Given the description of an element on the screen output the (x, y) to click on. 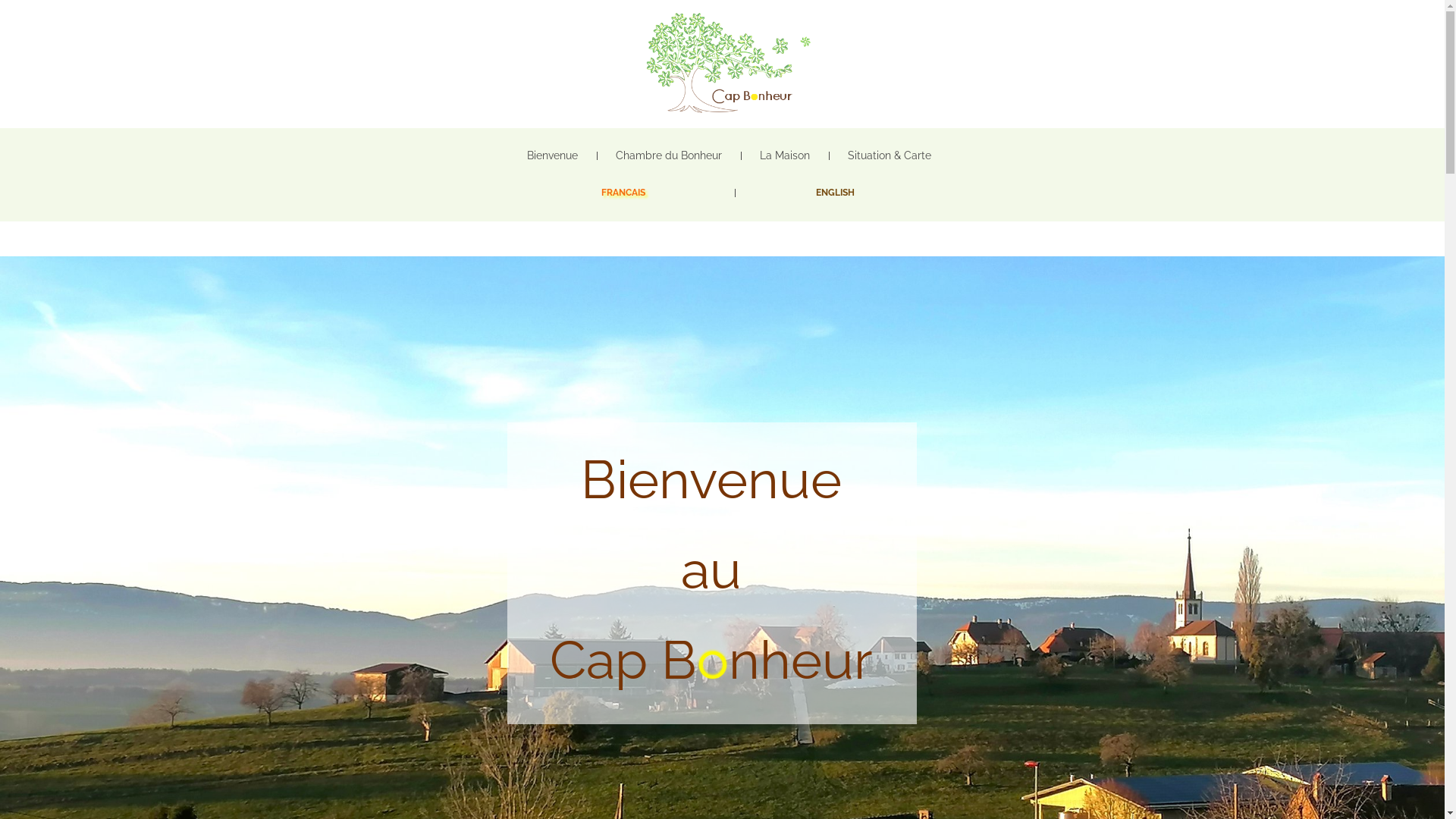
FRANCAIS Element type: text (623, 192)
ENGLISH Element type: text (835, 192)
Bienvenue Element type: text (552, 155)
Situation & Carte Element type: text (889, 155)
Chambre du Bonheur Element type: text (668, 155)
La Maison Element type: text (784, 155)
